Given the description of an element on the screen output the (x, y) to click on. 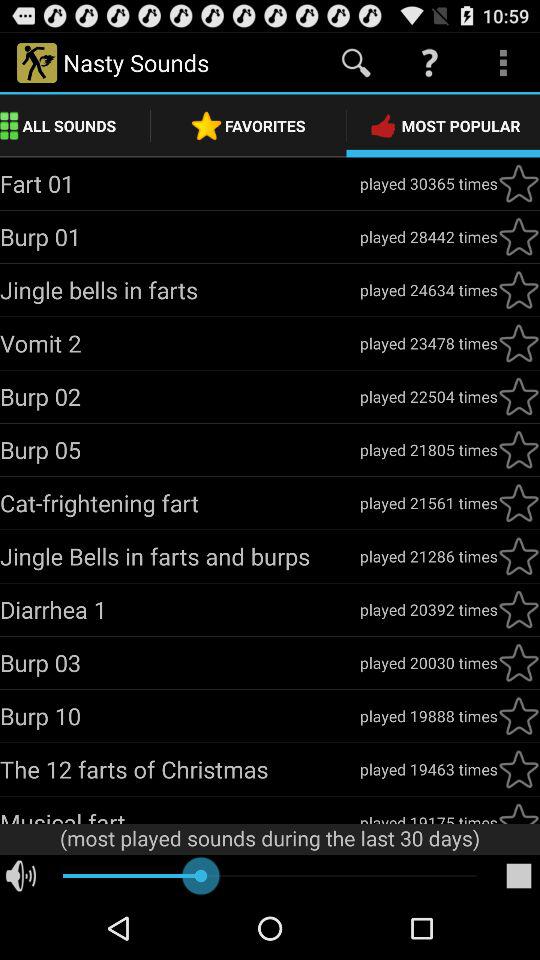
star article (519, 343)
